Given the description of an element on the screen output the (x, y) to click on. 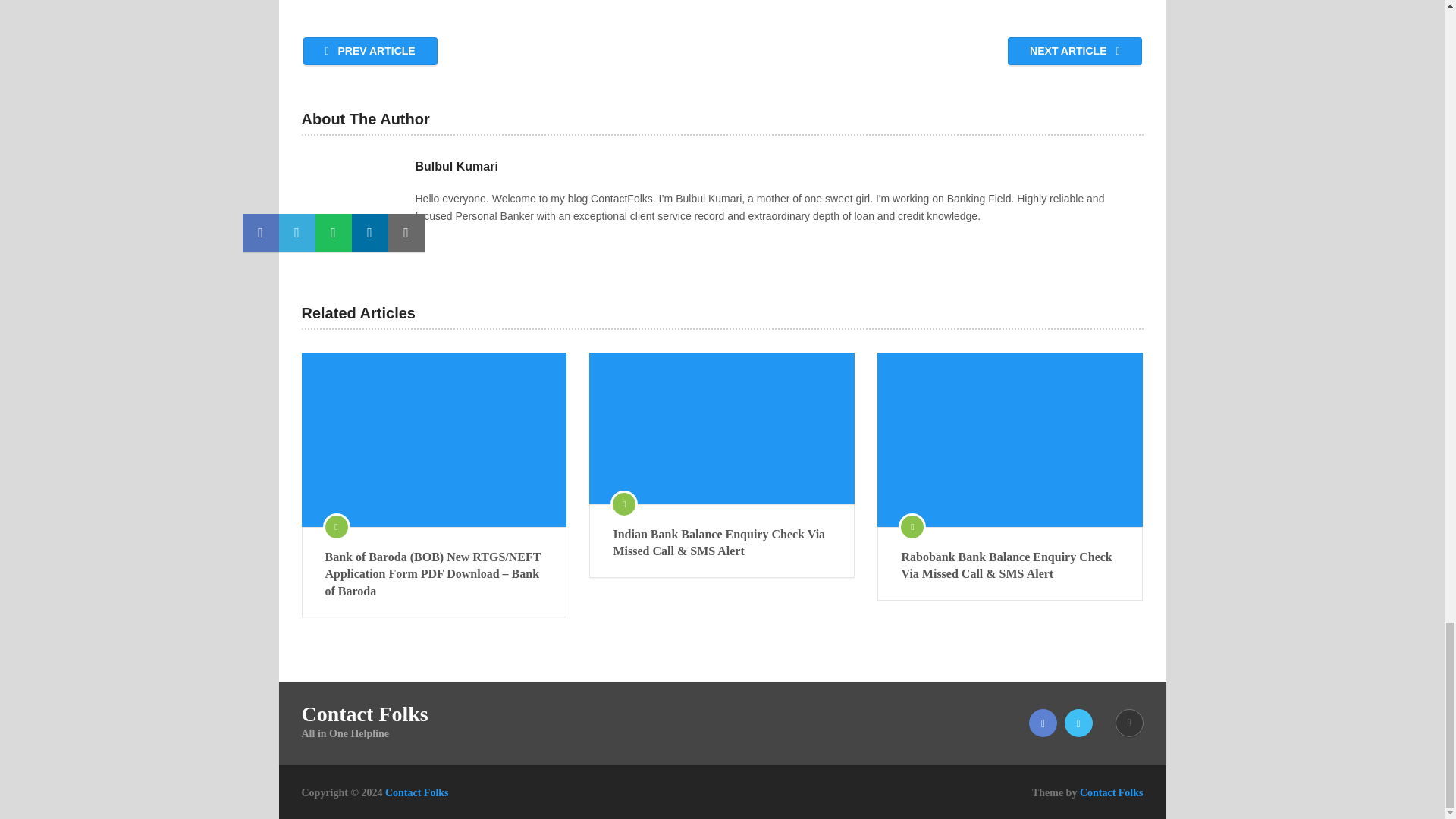
 All in One Helpline (416, 792)
